Given the description of an element on the screen output the (x, y) to click on. 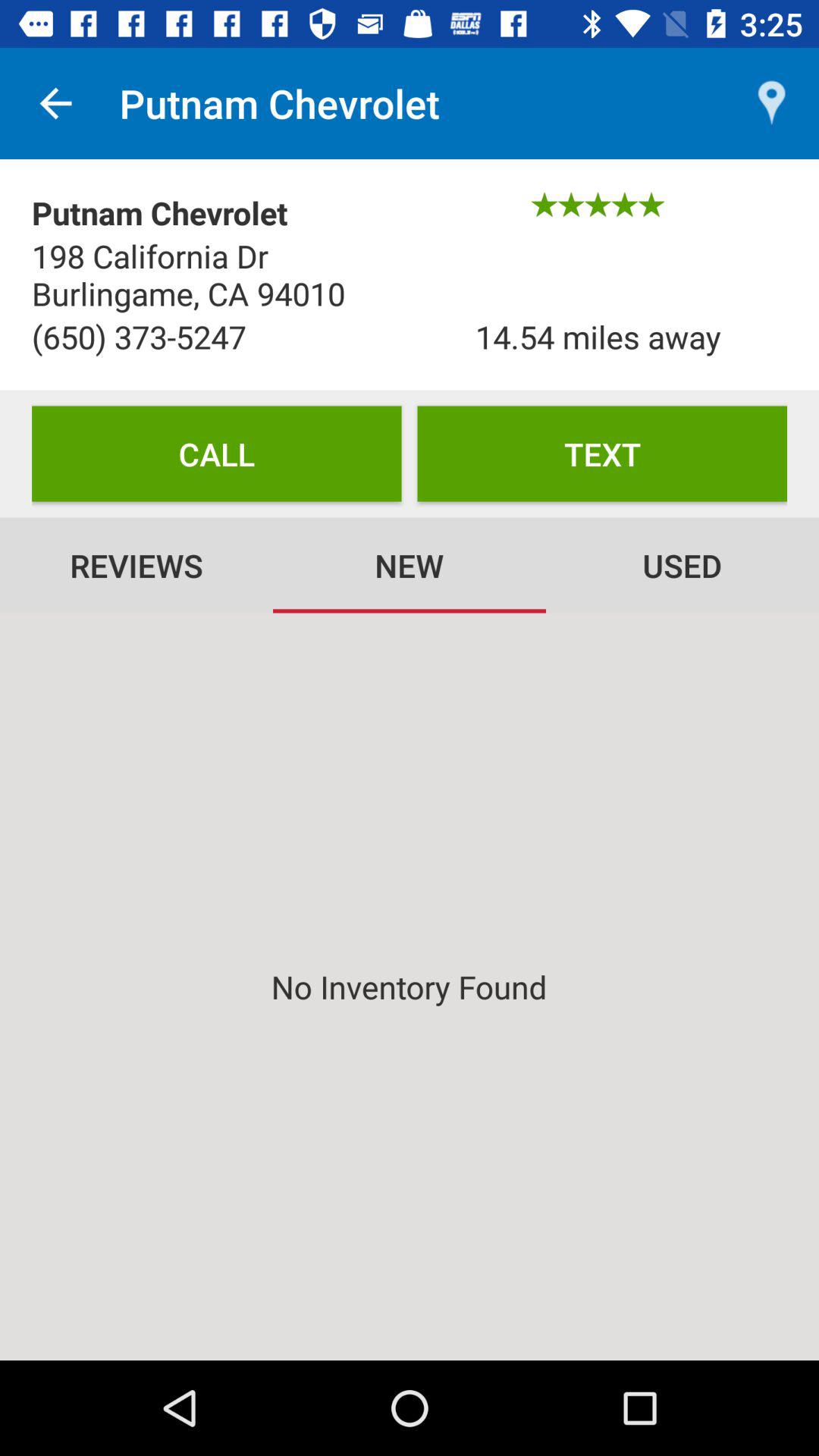
click the item below reviews item (409, 986)
